Given the description of an element on the screen output the (x, y) to click on. 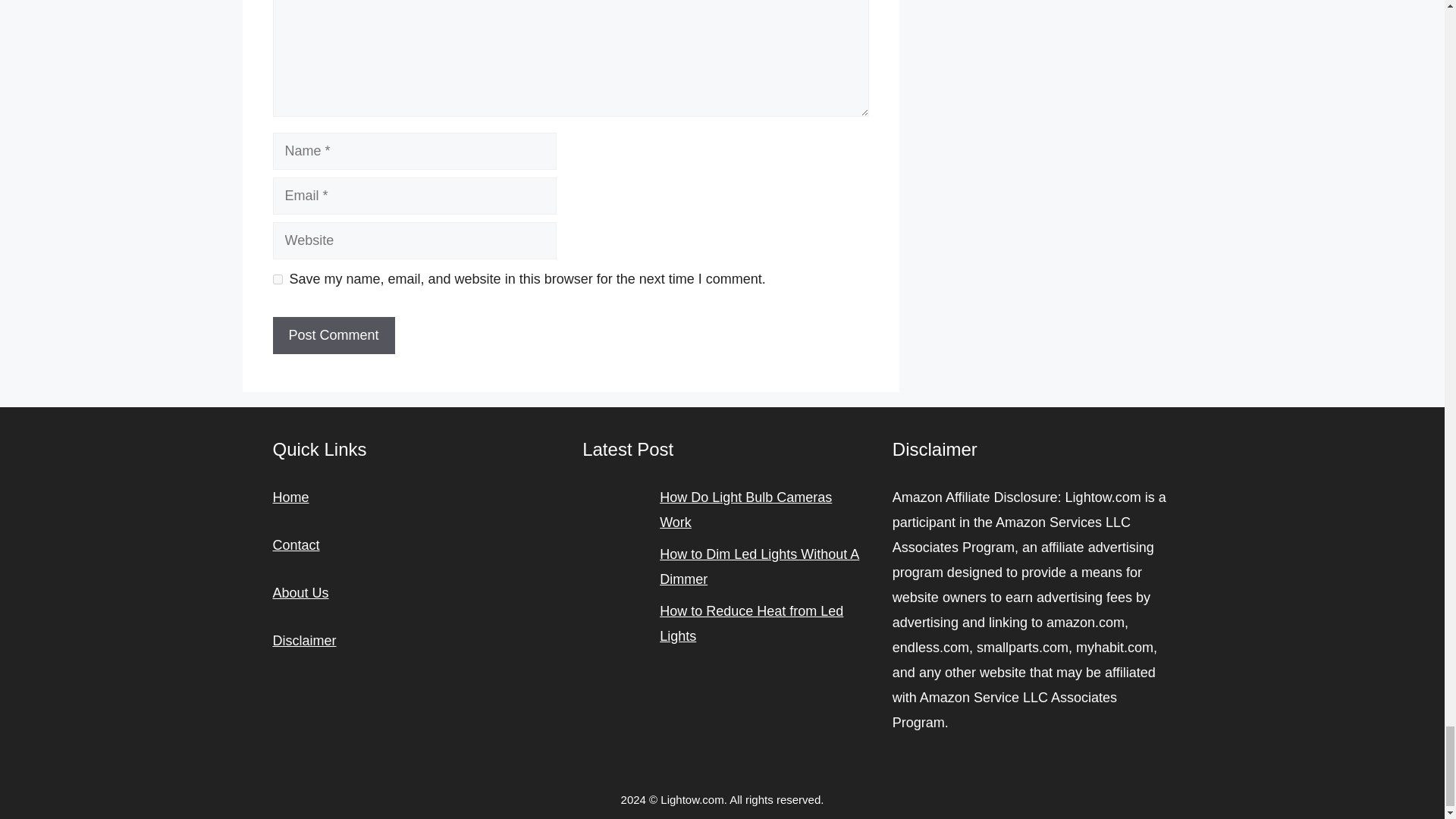
Contact (296, 544)
Home (290, 497)
About Us (301, 592)
Post Comment (333, 334)
yes (277, 279)
Post Comment (333, 334)
